Given the description of an element on the screen output the (x, y) to click on. 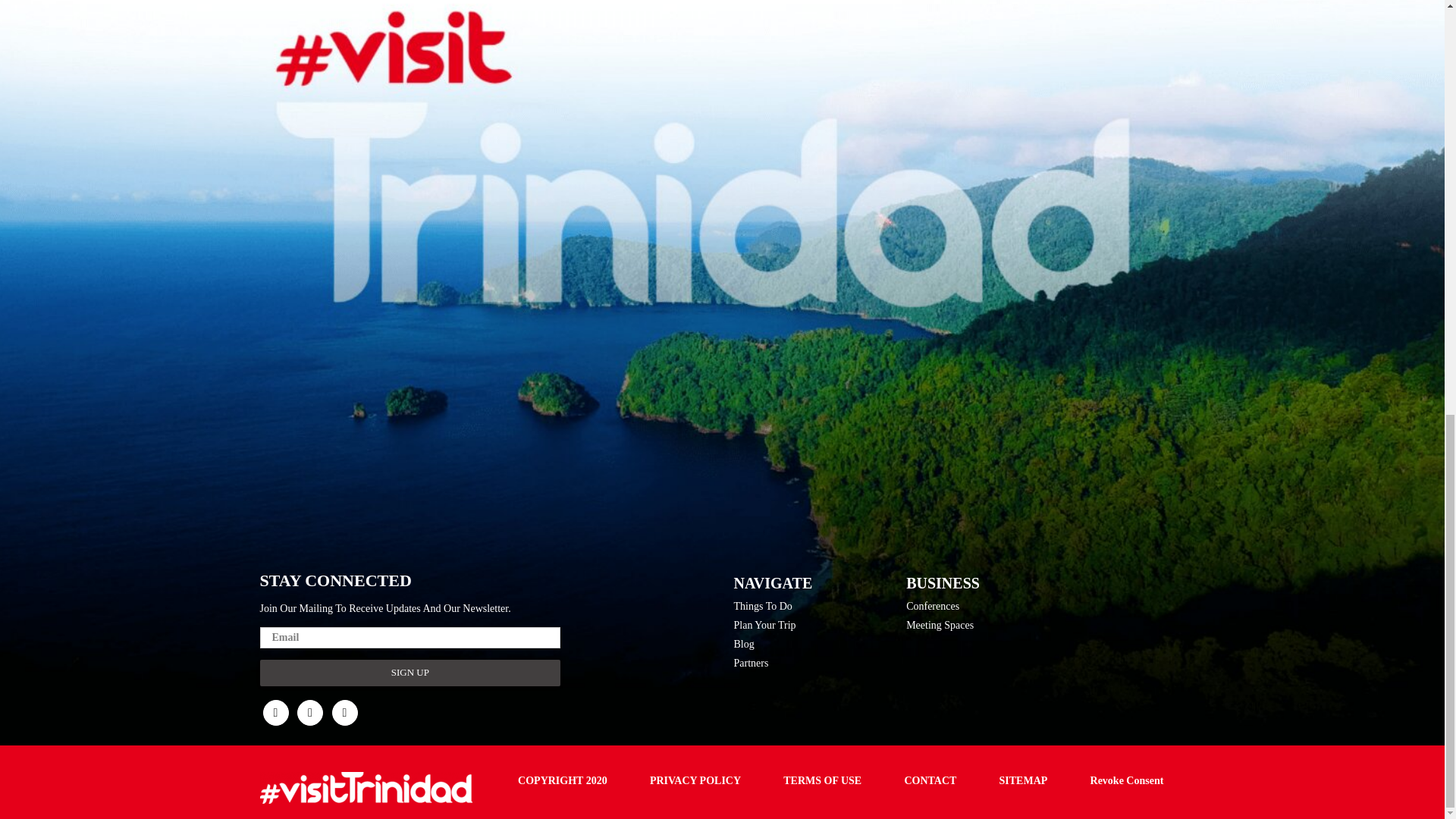
Sign up (409, 673)
Revoke consent (1126, 781)
